Given the description of an element on the screen output the (x, y) to click on. 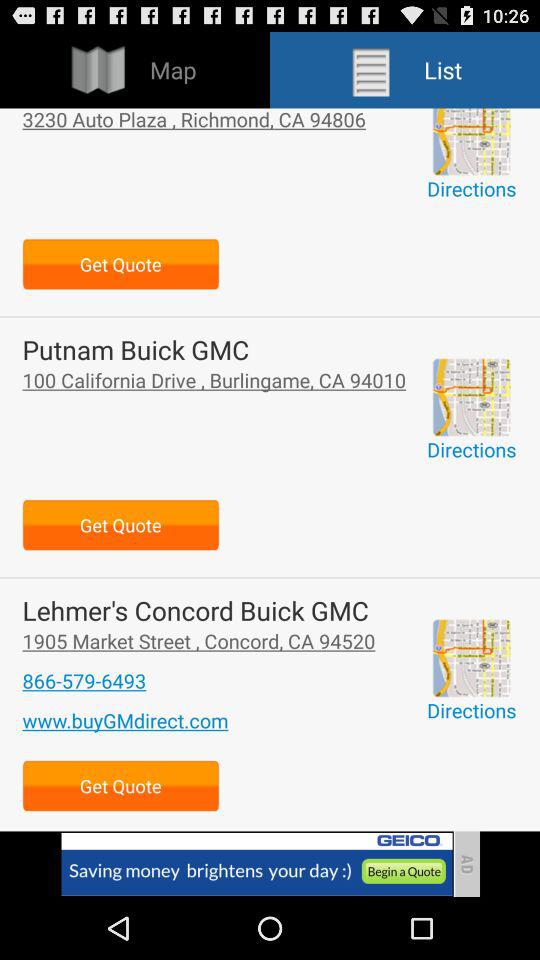
click to directions (471, 141)
